Given the description of an element on the screen output the (x, y) to click on. 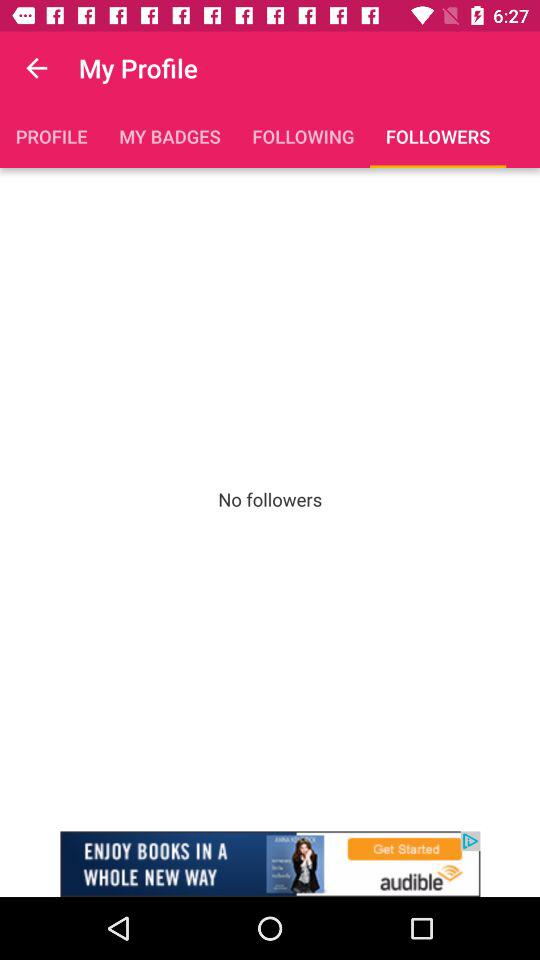
advertisement (270, 864)
